Given the description of an element on the screen output the (x, y) to click on. 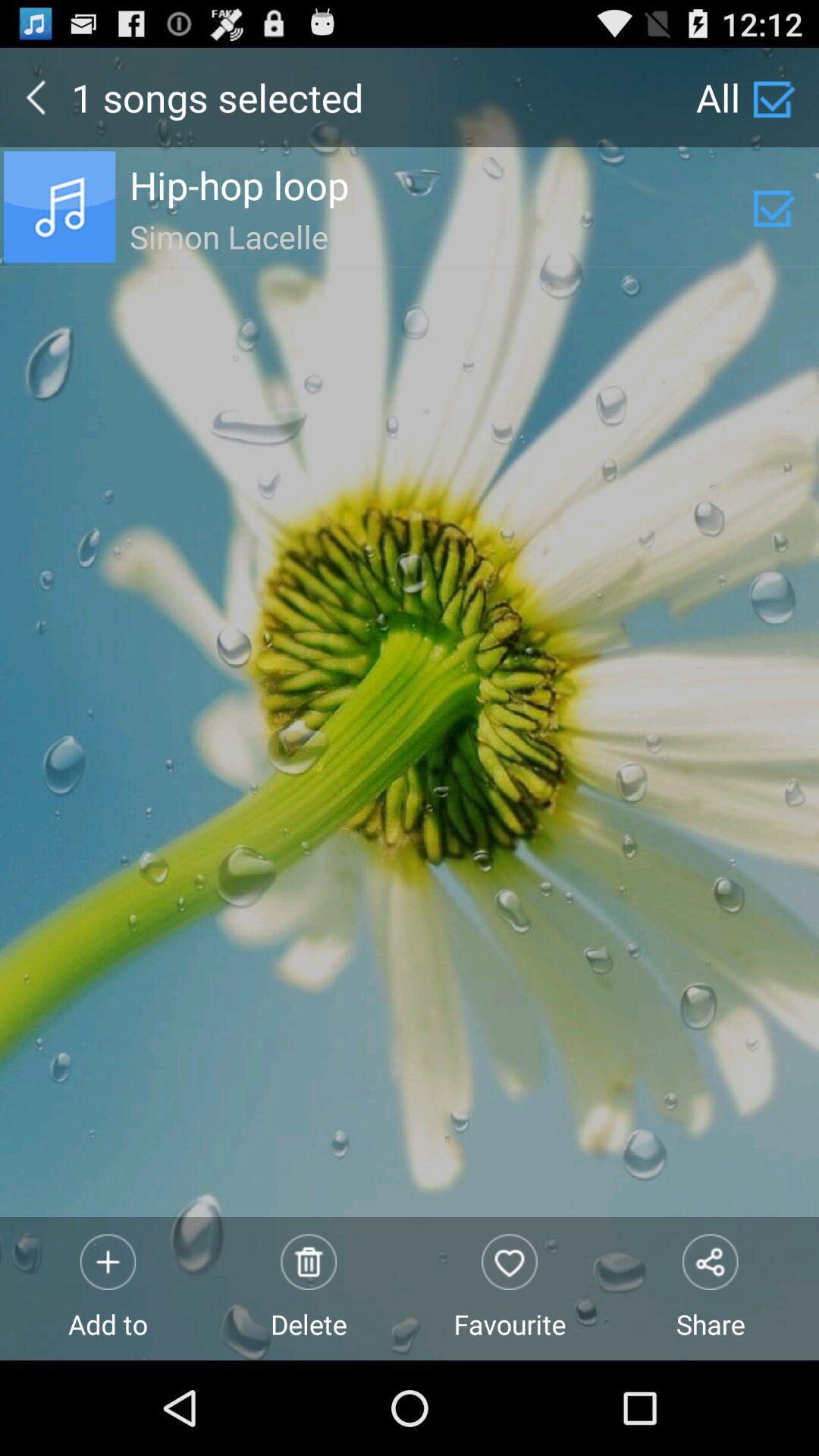
press the add to item (107, 1288)
